Given the description of an element on the screen output the (x, y) to click on. 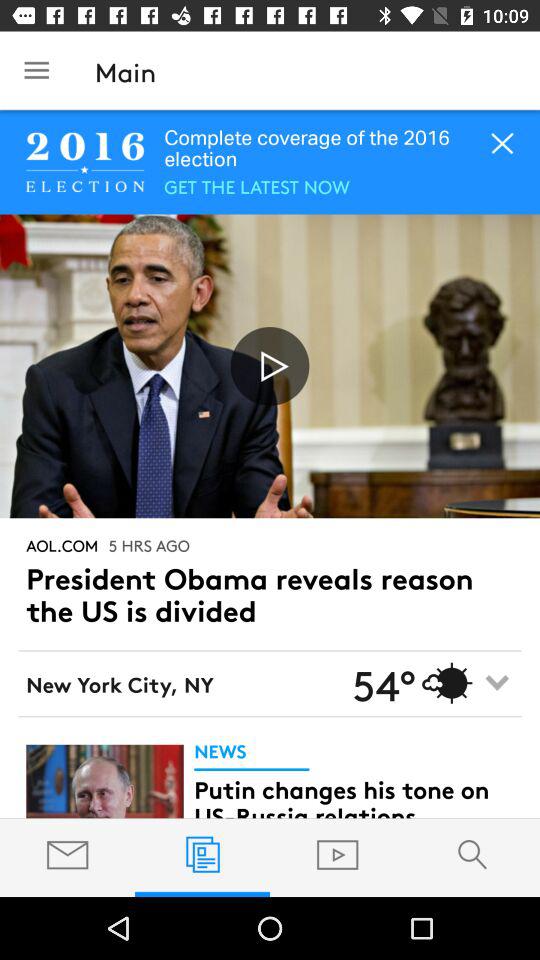
select the second face which is besides the news (104, 780)
select the icon which is beside the search button (337, 854)
select the text left to 54 (186, 682)
click on play button (269, 366)
click on the cross button in the top (501, 145)
select the text get the latest now (256, 185)
